Given the description of an element on the screen output the (x, y) to click on. 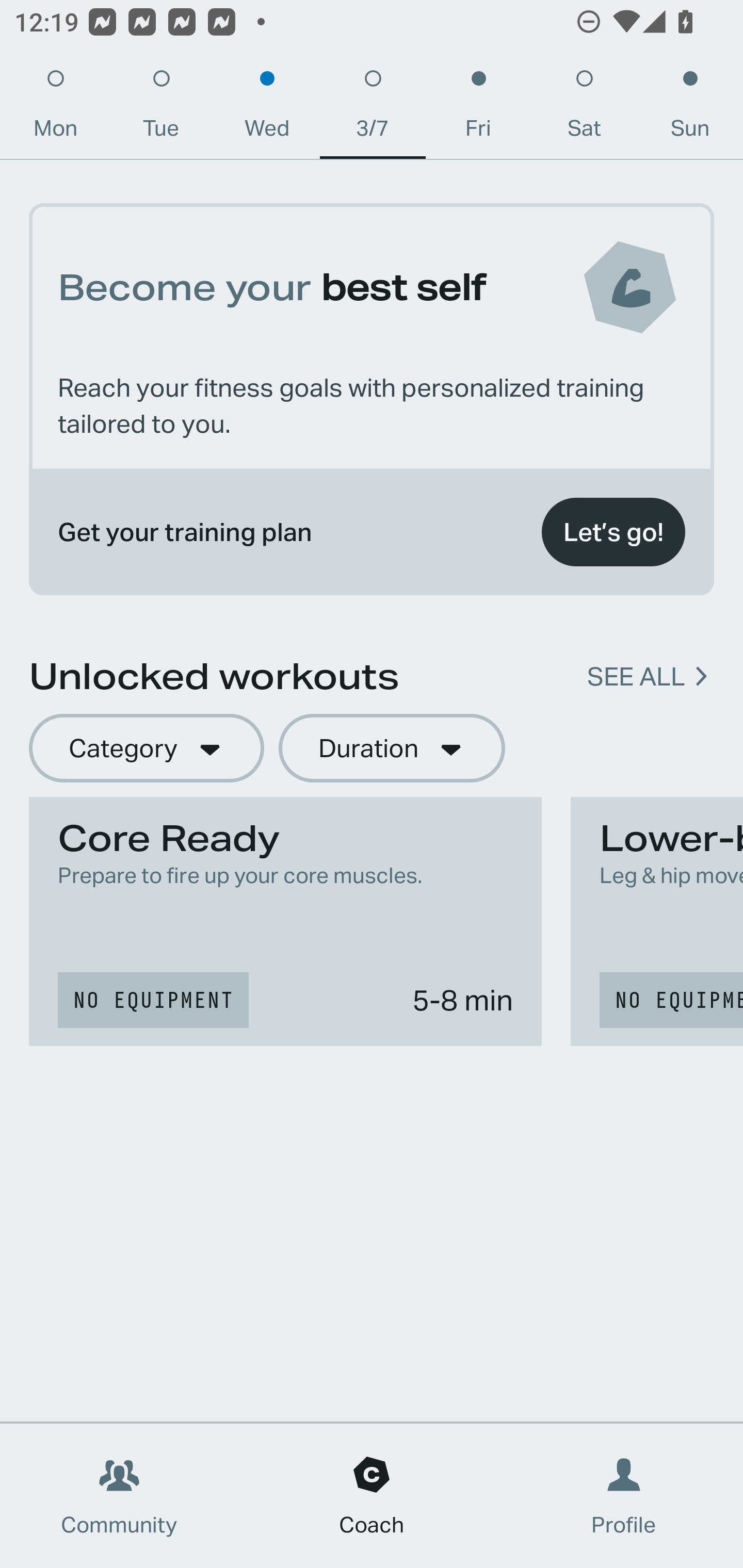
Mon (55, 108)
Tue (160, 108)
Wed (266, 108)
3/7 (372, 108)
Fri (478, 108)
Sat (584, 108)
Sun (690, 108)
Let’s go! (613, 532)
SEE ALL (635, 676)
Category (146, 748)
Duration (391, 748)
Community (119, 1495)
Profile (624, 1495)
